Given the description of an element on the screen output the (x, y) to click on. 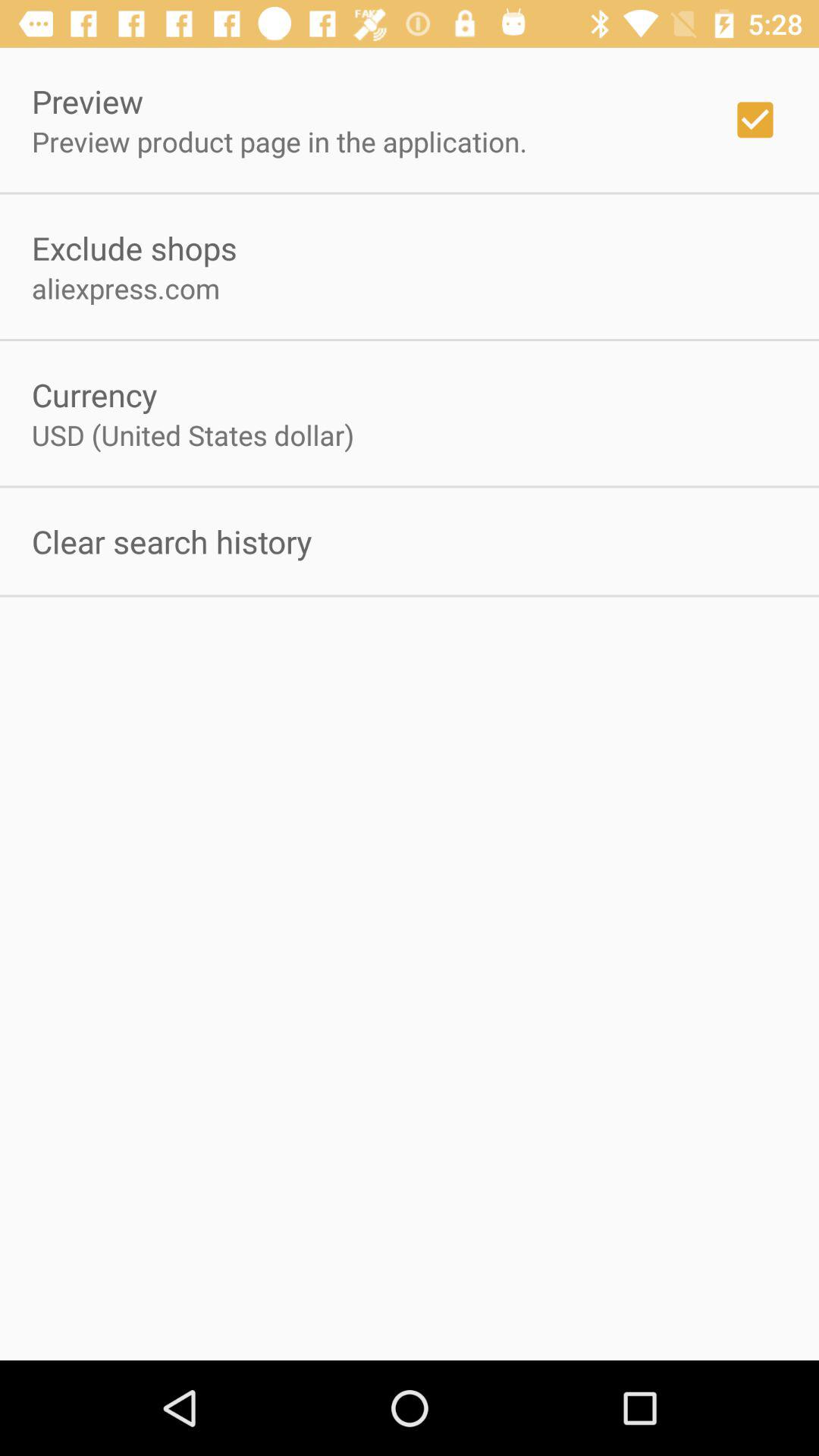
swipe to the currency (94, 394)
